Given the description of an element on the screen output the (x, y) to click on. 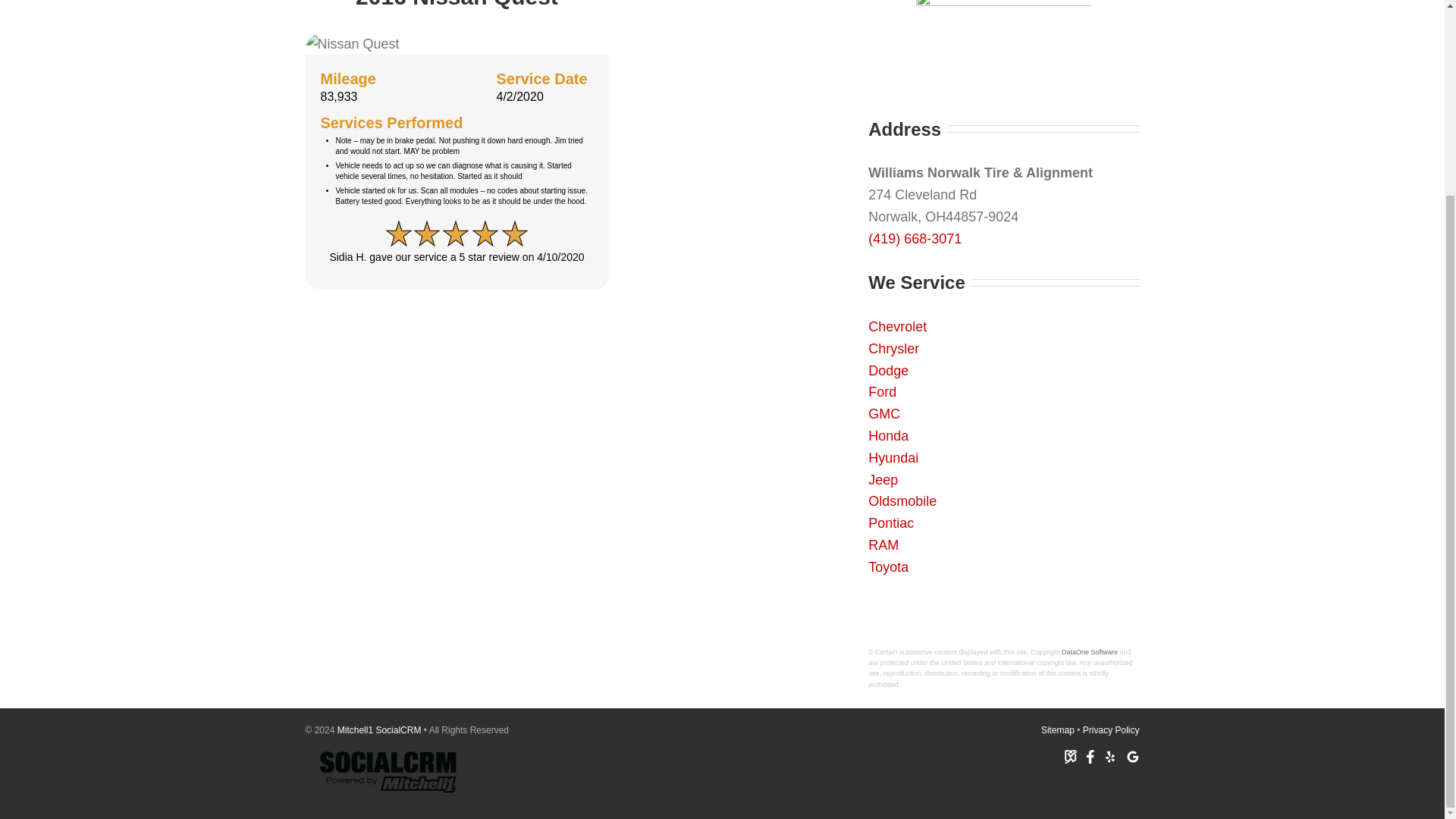
SureCritic (1070, 756)
Mitchell1 SocialCRM (379, 729)
Yelp (1109, 756)
